Given the description of an element on the screen output the (x, y) to click on. 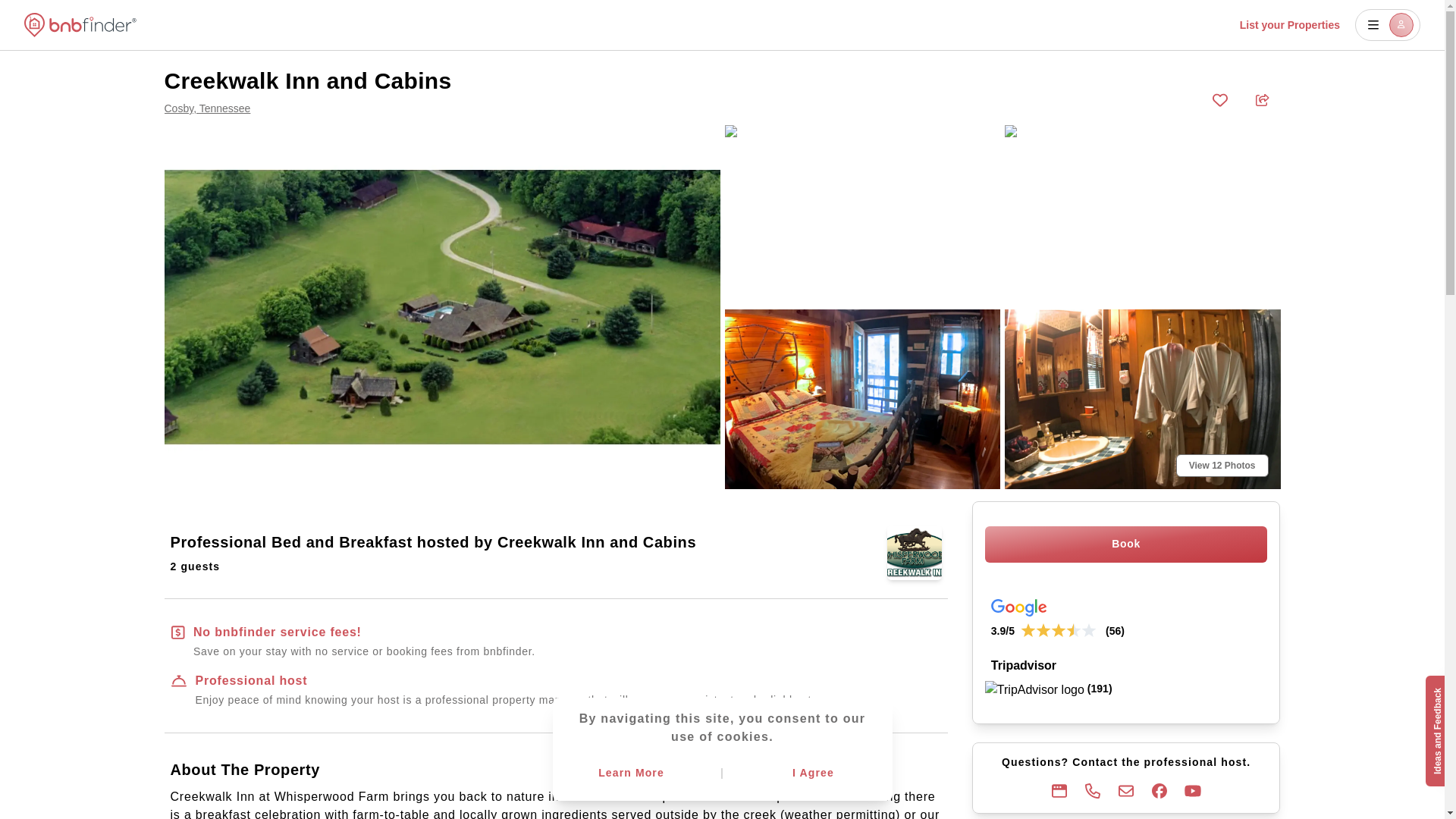
List your Properties (1289, 24)
View 12 Photos (1222, 465)
Open user menu (1388, 24)
